Given the description of an element on the screen output the (x, y) to click on. 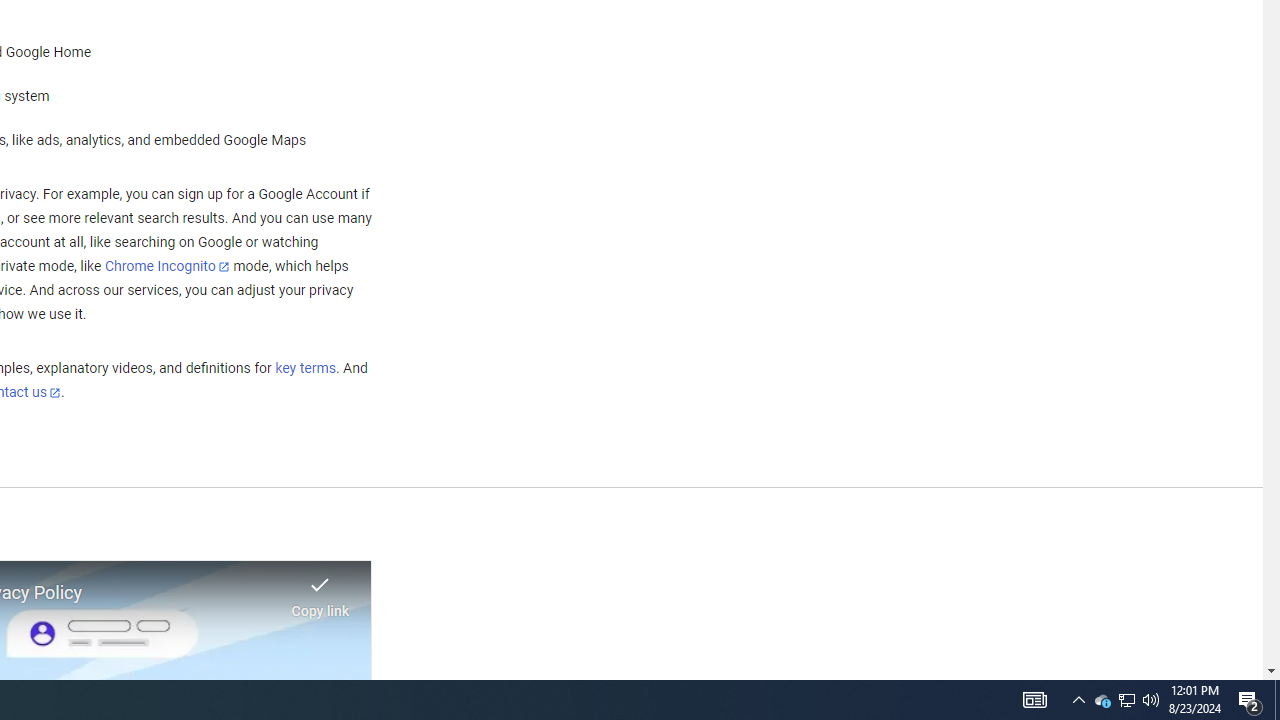
key terms (305, 369)
Chrome Incognito (166, 266)
Link copied to clipboard (319, 591)
